Given the description of an element on the screen output the (x, y) to click on. 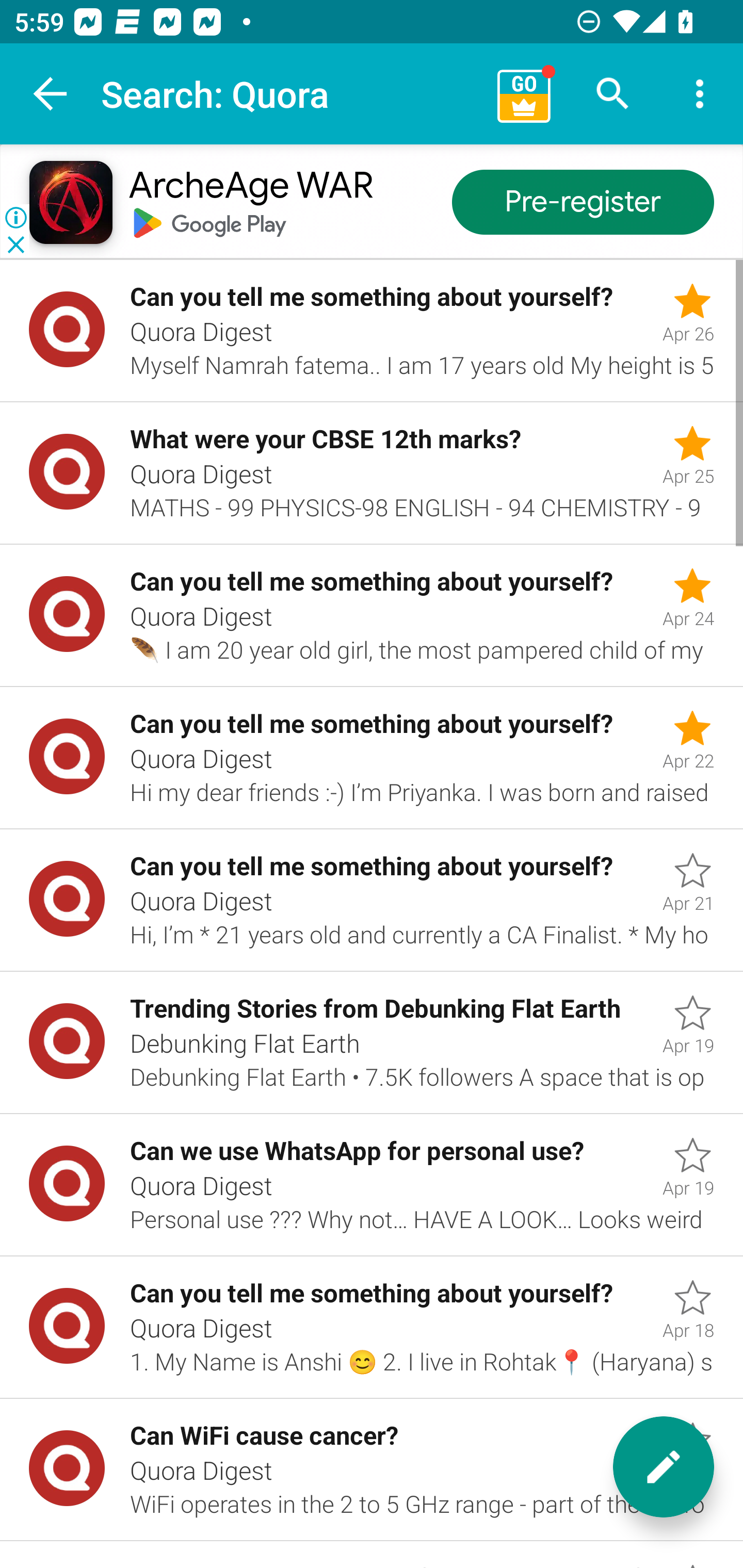
Navigate up (50, 93)
Search (612, 93)
More options (699, 93)
ArcheAge WAR (250, 186)
Pre-register (582, 202)
New message (663, 1466)
